Given the description of an element on the screen output the (x, y) to click on. 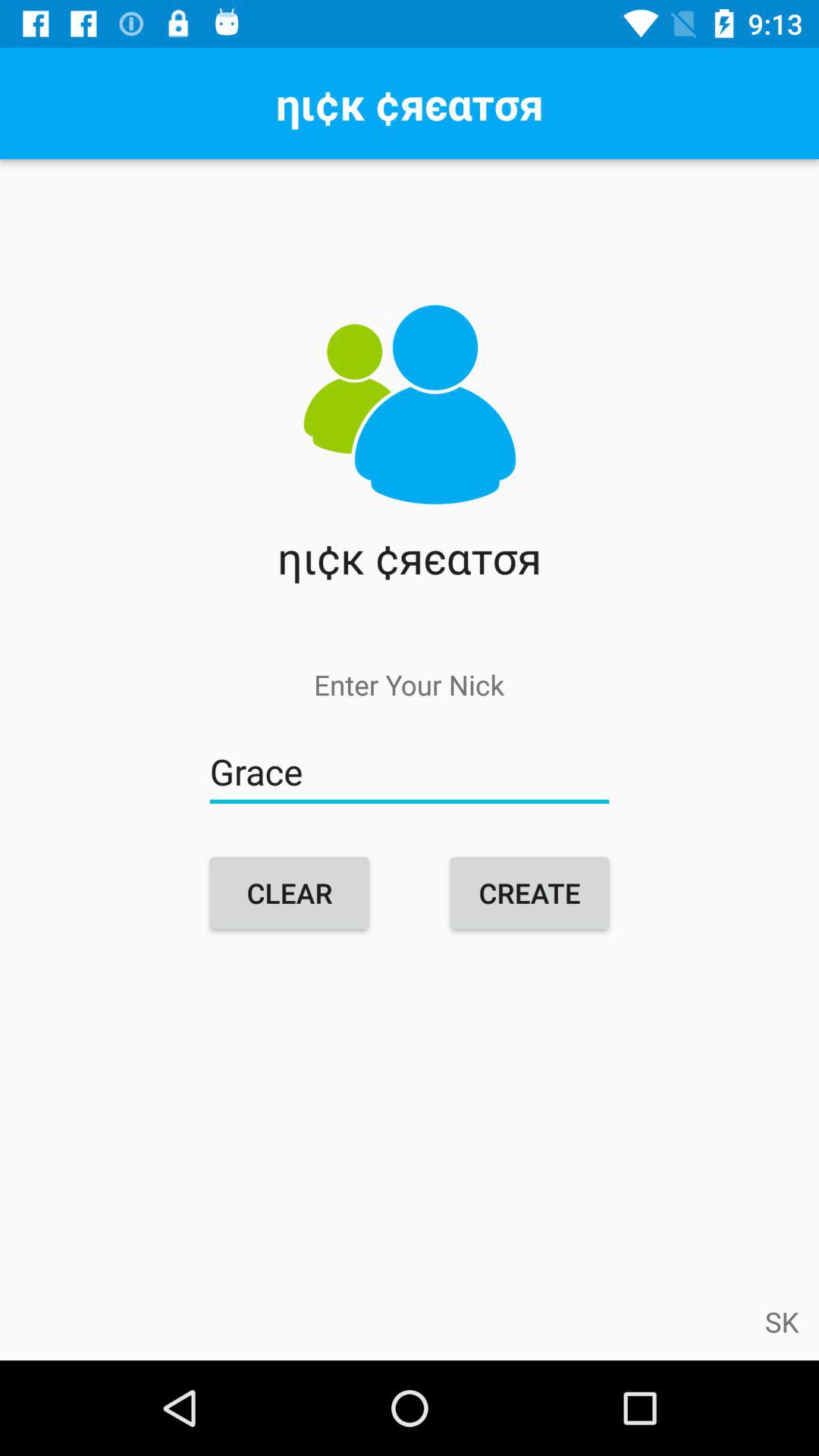
press the item above the create item (409, 772)
